Given the description of an element on the screen output the (x, y) to click on. 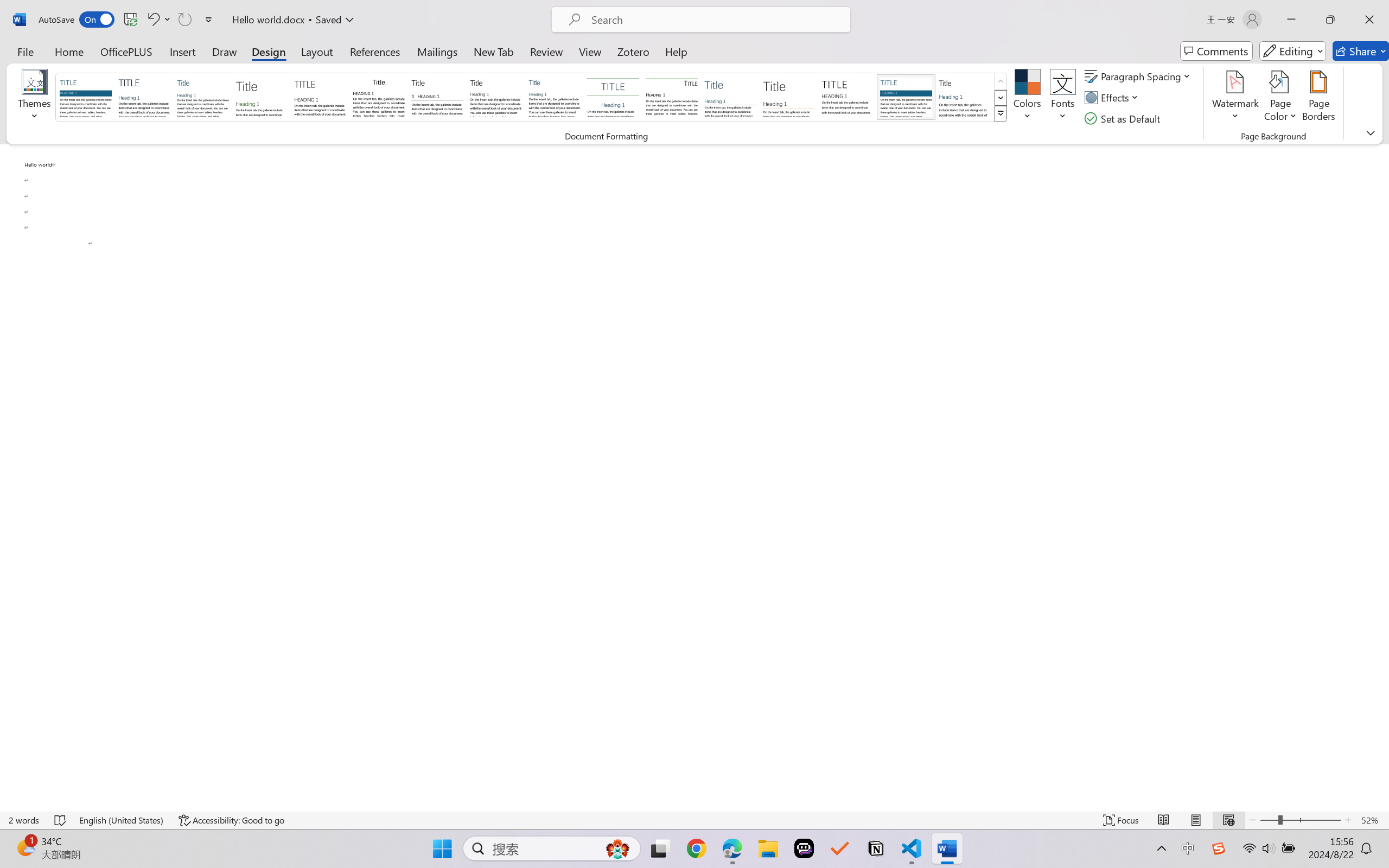
Themes (34, 97)
Help (675, 51)
AutoSave (76, 19)
File Tab (24, 51)
AutomationID: BadgeAnchorLargeTicker (24, 847)
Shaded (905, 96)
Class: NetUIScrollBar (1382, 477)
Class: NetUIImage (1000, 114)
Home (69, 51)
